Given the description of an element on the screen output the (x, y) to click on. 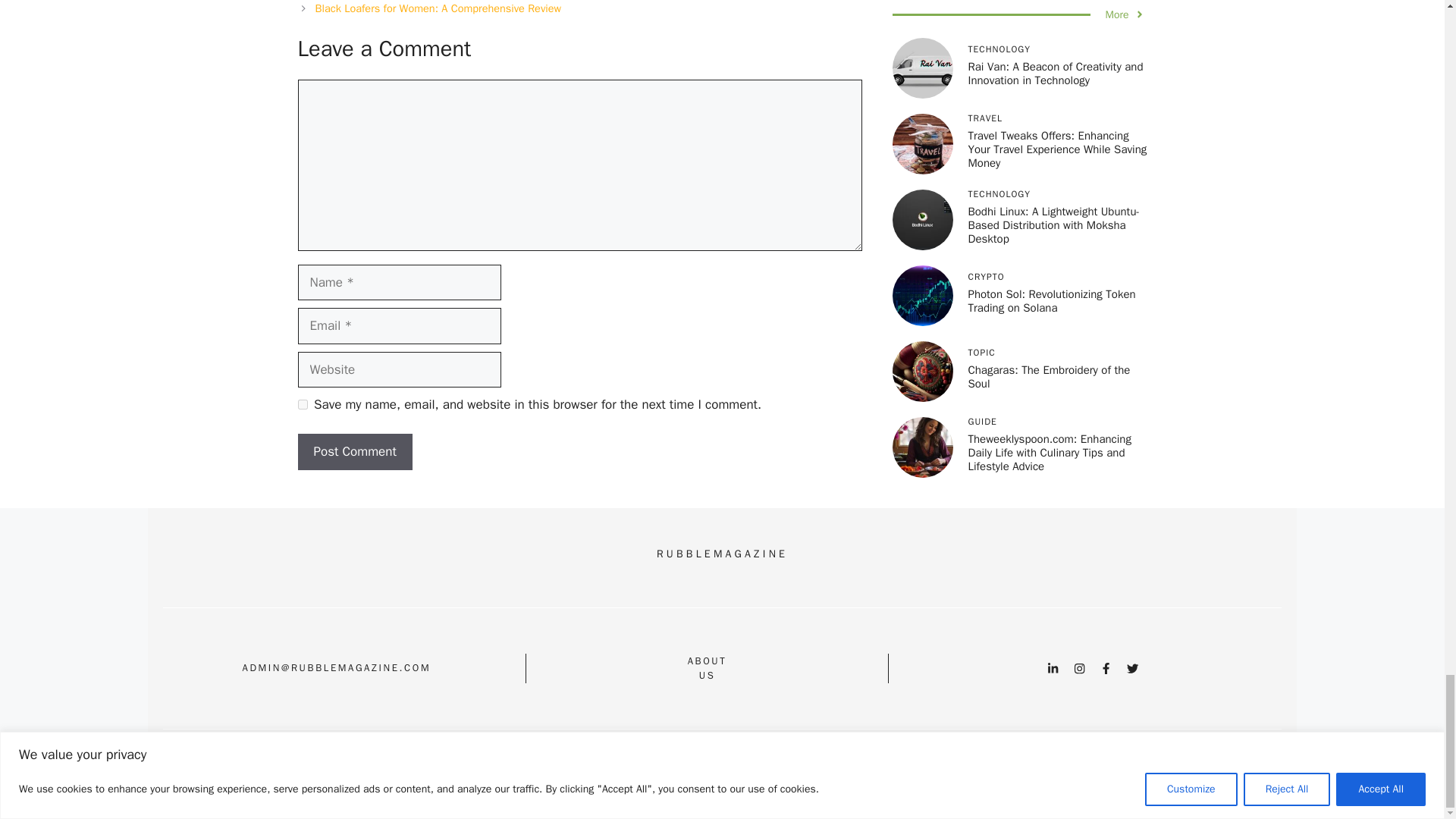
Post Comment (354, 452)
Post Comment (354, 452)
yes (302, 404)
Black Loafers for Women: A Comprehensive Review (437, 8)
